Given the description of an element on the screen output the (x, y) to click on. 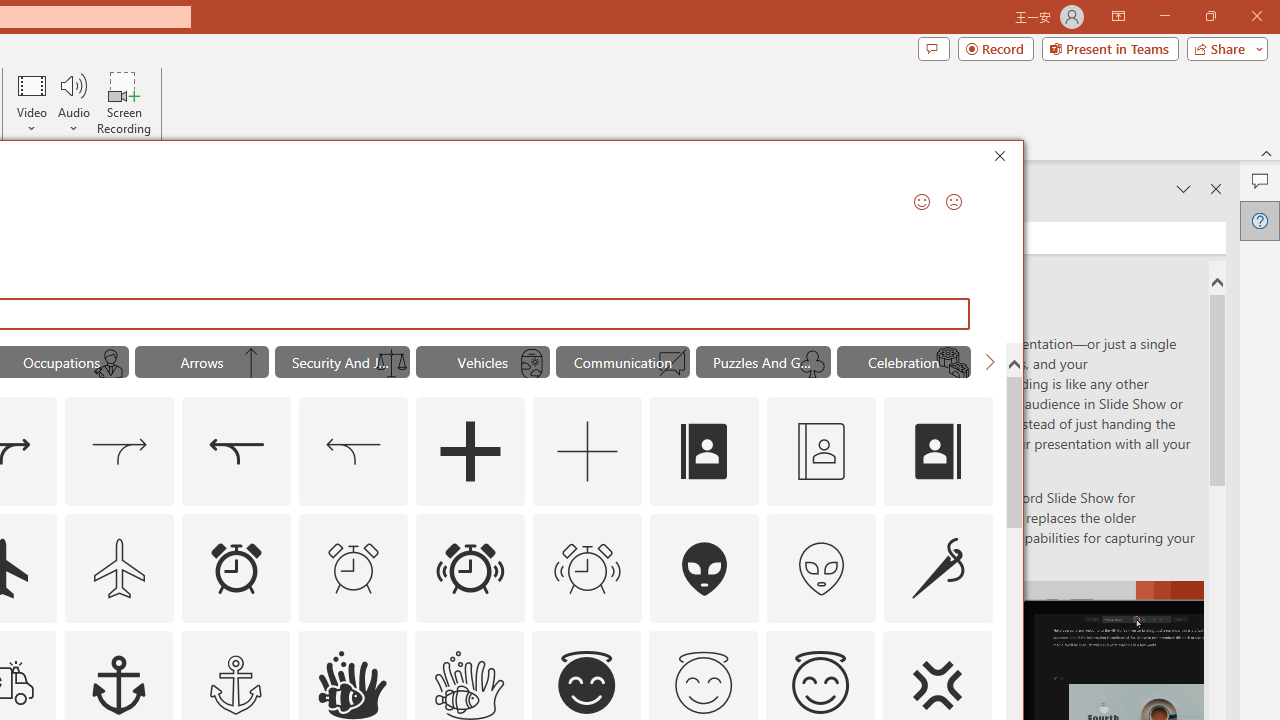
AutomationID: Icons_AlienFace_M (821, 568)
AutomationID: Icons_AddressBook_LTR_M (821, 452)
AutomationID: Icons_AlterationsTailoring (938, 568)
"Celebration" Icons. (904, 362)
"Communication" Icons. (622, 362)
outline (820, 685)
AutomationID: Icons_ClubSuit_M (812, 364)
Screen Recording... (123, 102)
AutomationID: Icons_MoonCake_M (952, 364)
